Given the description of an element on the screen output the (x, y) to click on. 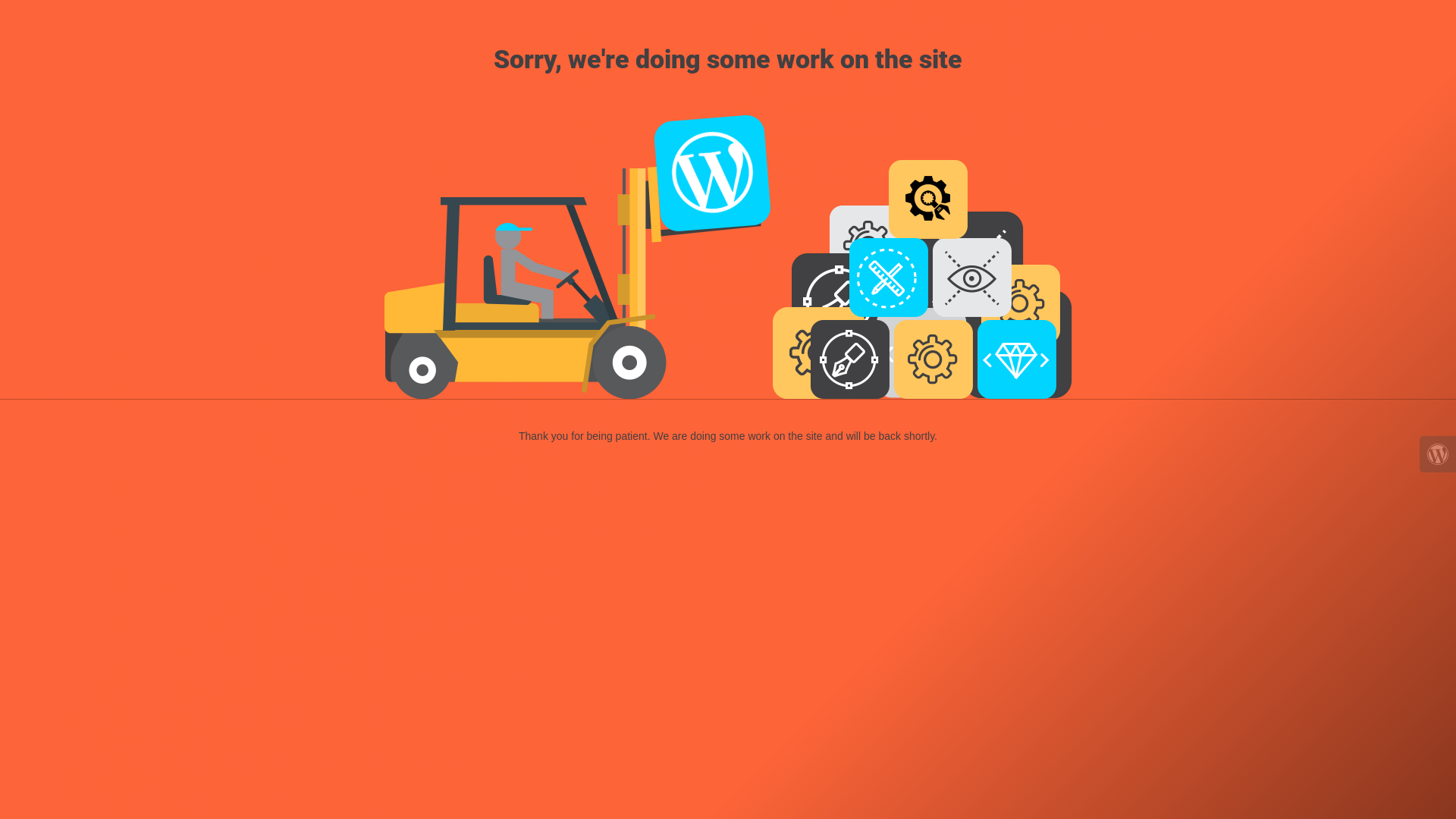
Forklift at Work Element type: hover (727, 254)
